Given the description of an element on the screen output the (x, y) to click on. 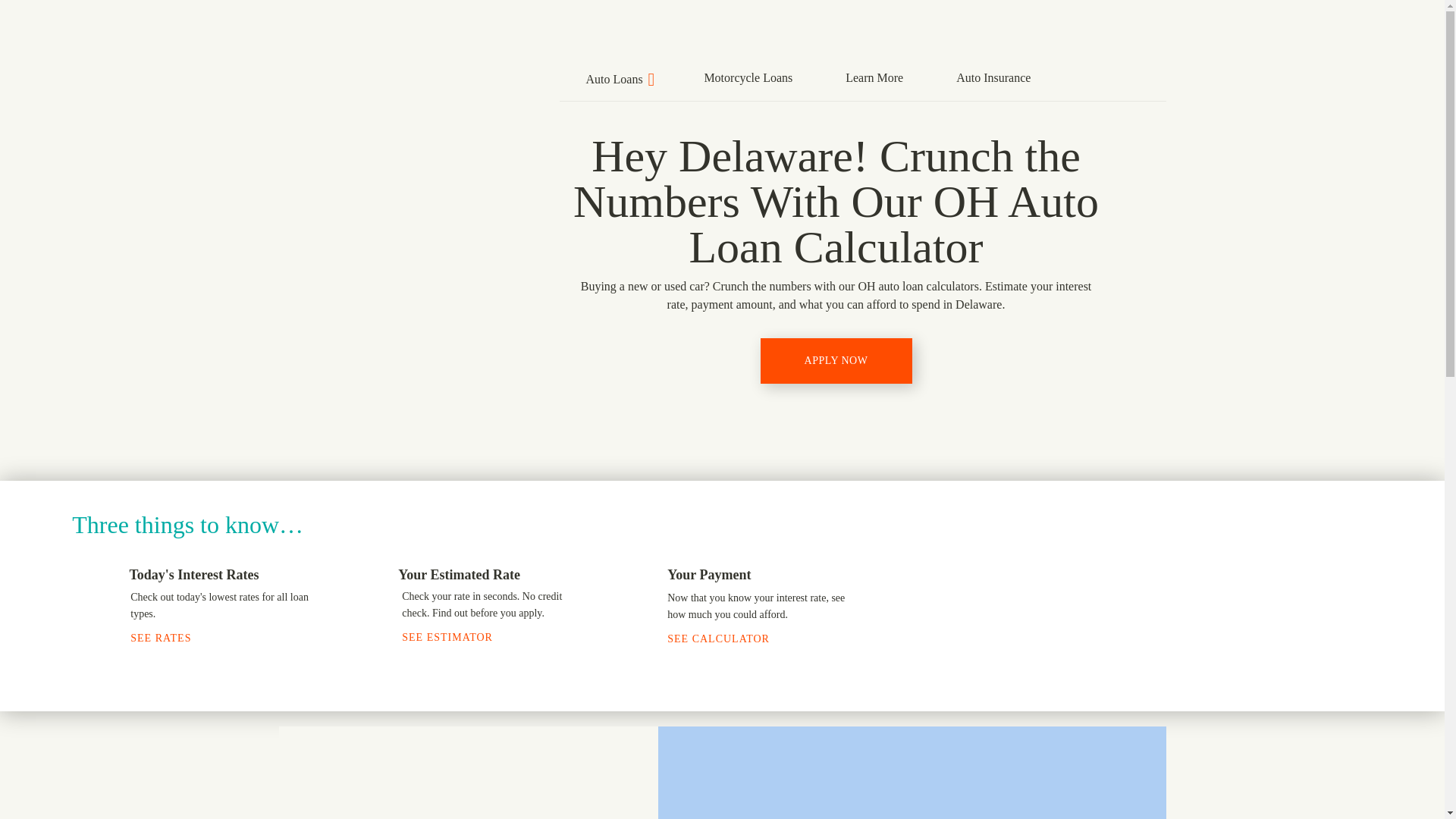
SEE ESTIMATOR (456, 636)
SEE CALCULATOR (726, 638)
Auto Insurance (993, 75)
Learn More (874, 75)
SEE RATES (169, 637)
Motorcycle Loans (747, 75)
Auto Loans (618, 76)
APPLY NOW (835, 361)
